Given the description of an element on the screen output the (x, y) to click on. 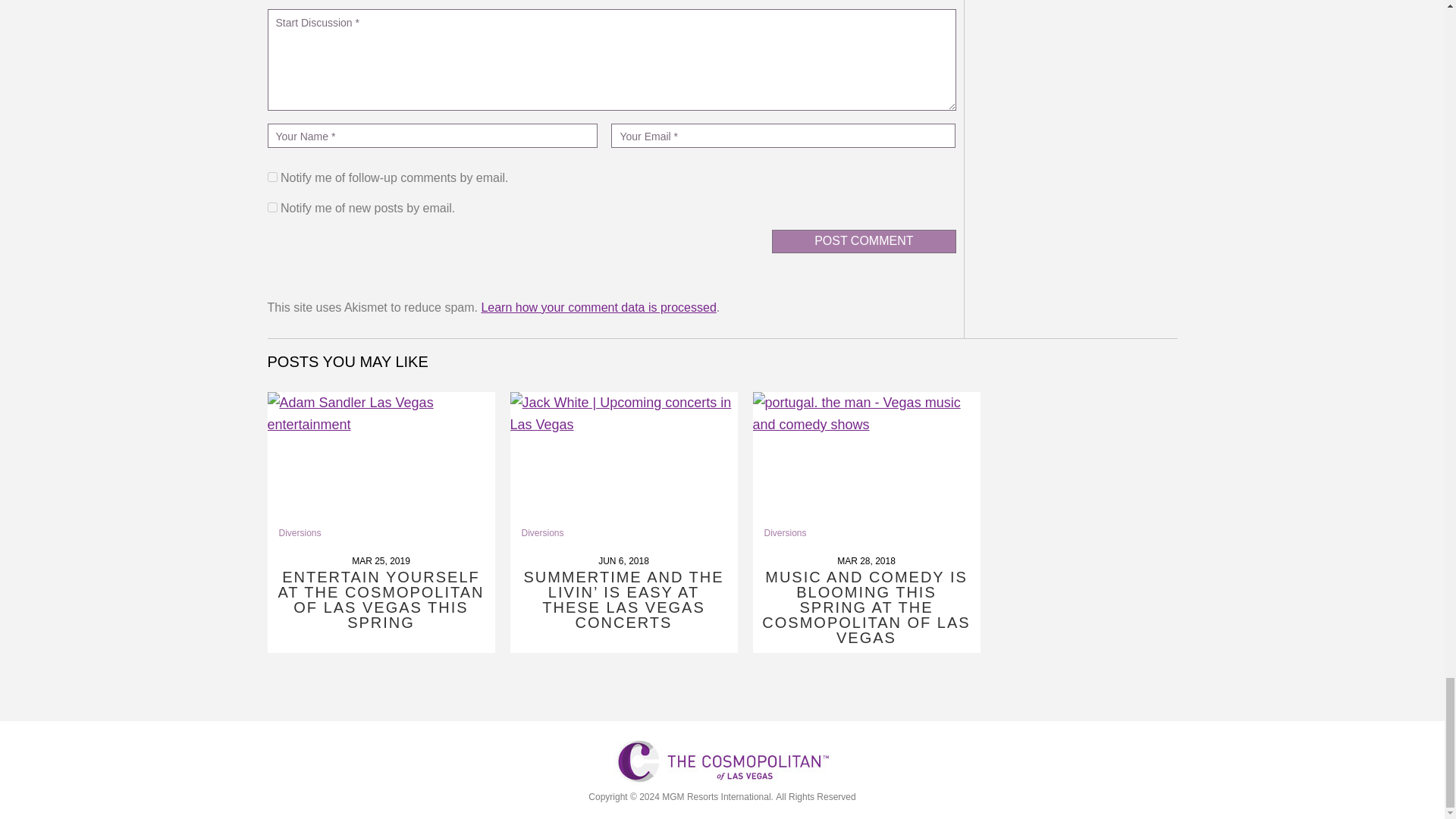
Post Comment (863, 241)
subscribe (271, 207)
subscribe (271, 176)
Learn how your comment data is processed (598, 307)
Post Comment (863, 241)
